Given the description of an element on the screen output the (x, y) to click on. 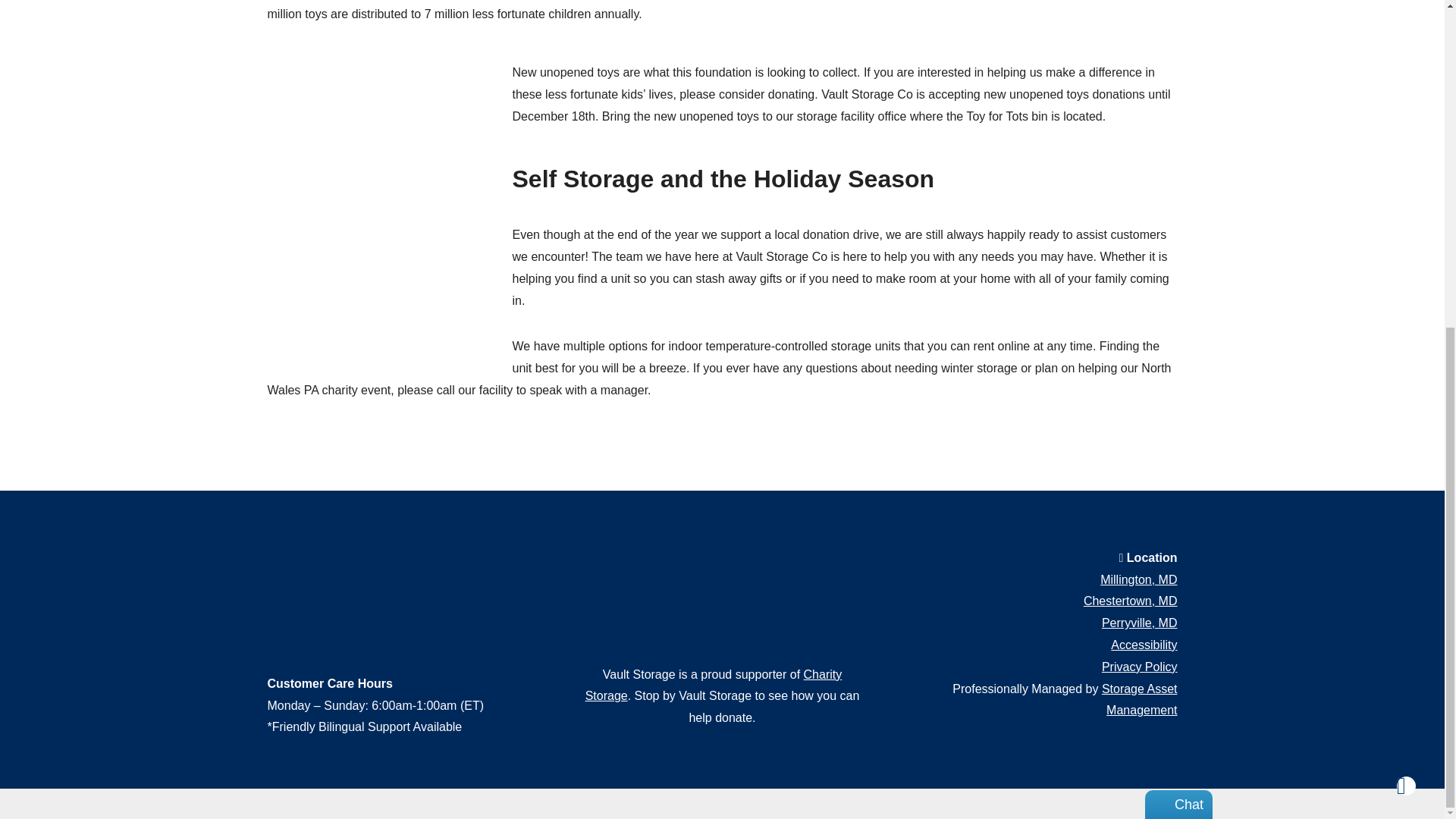
Millington, MD (1138, 579)
Chestertown, MD (1130, 600)
Charity Storage (714, 685)
rent online (1002, 345)
Click to popout into a new window (1155, 294)
Click to minimize (1139, 294)
